Given the description of an element on the screen output the (x, y) to click on. 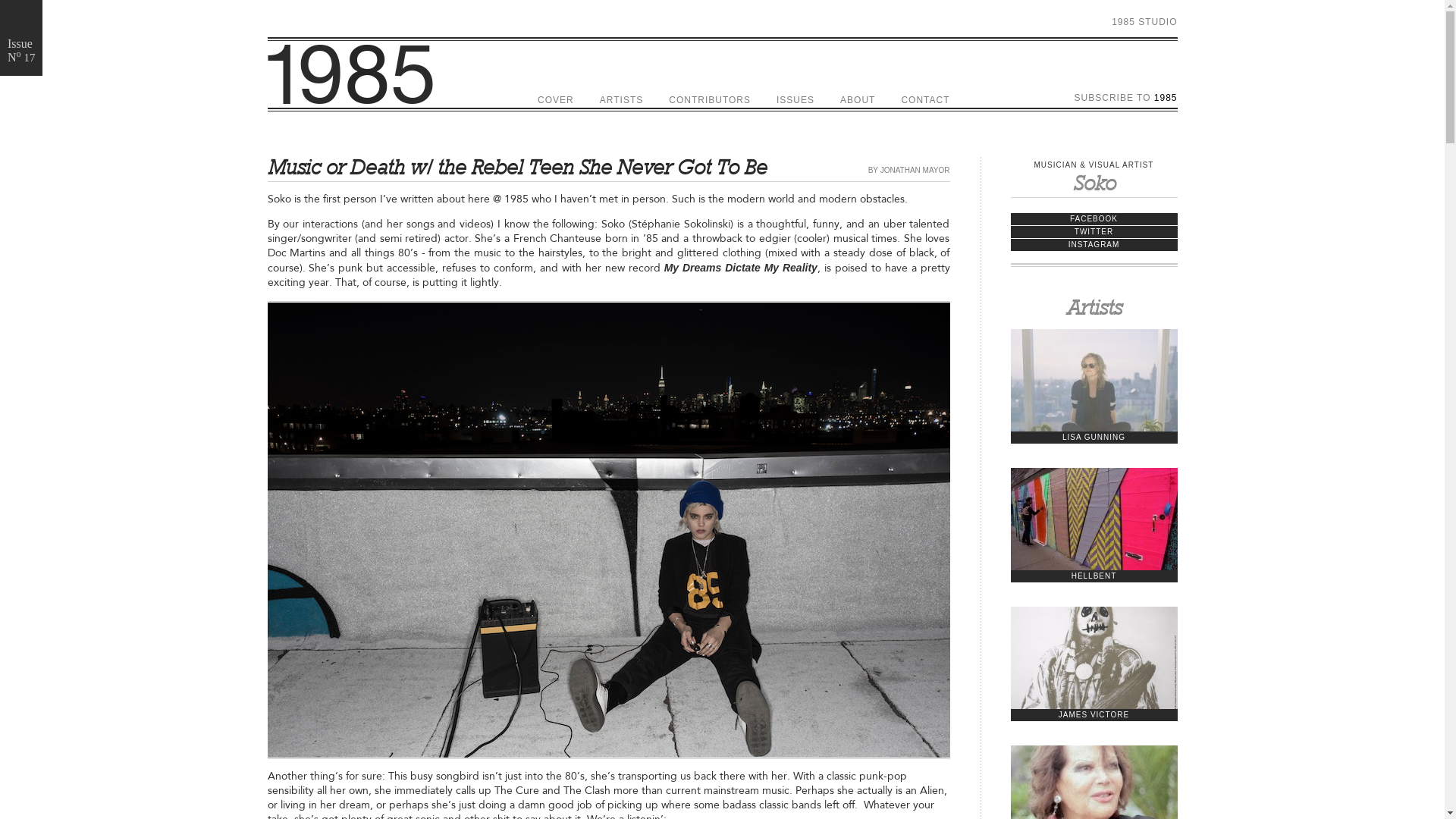
ABOUT Element type: text (857, 99)
ISSUES Element type: text (795, 99)
LISA GUNNING Element type: text (1093, 409)
HELLBENT Element type: text (1093, 548)
JAMES VICTORE Element type: text (1093, 686)
COVER Element type: text (555, 99)
CONTRIBUTORS Element type: text (709, 99)
SUBSCRIBE TO 1985 Element type: text (1125, 97)
1985 Element type: text (721, 74)
INSTAGRAM Element type: text (1093, 244)
TWITTER Element type: text (1093, 231)
JONATHAN MAYOR Element type: text (915, 170)
1985 STUDIO Element type: text (1143, 21)
FACEBOOK Element type: text (1093, 219)
CONTACT Element type: text (924, 99)
ARTISTS Element type: text (621, 99)
